Given the description of an element on the screen output the (x, y) to click on. 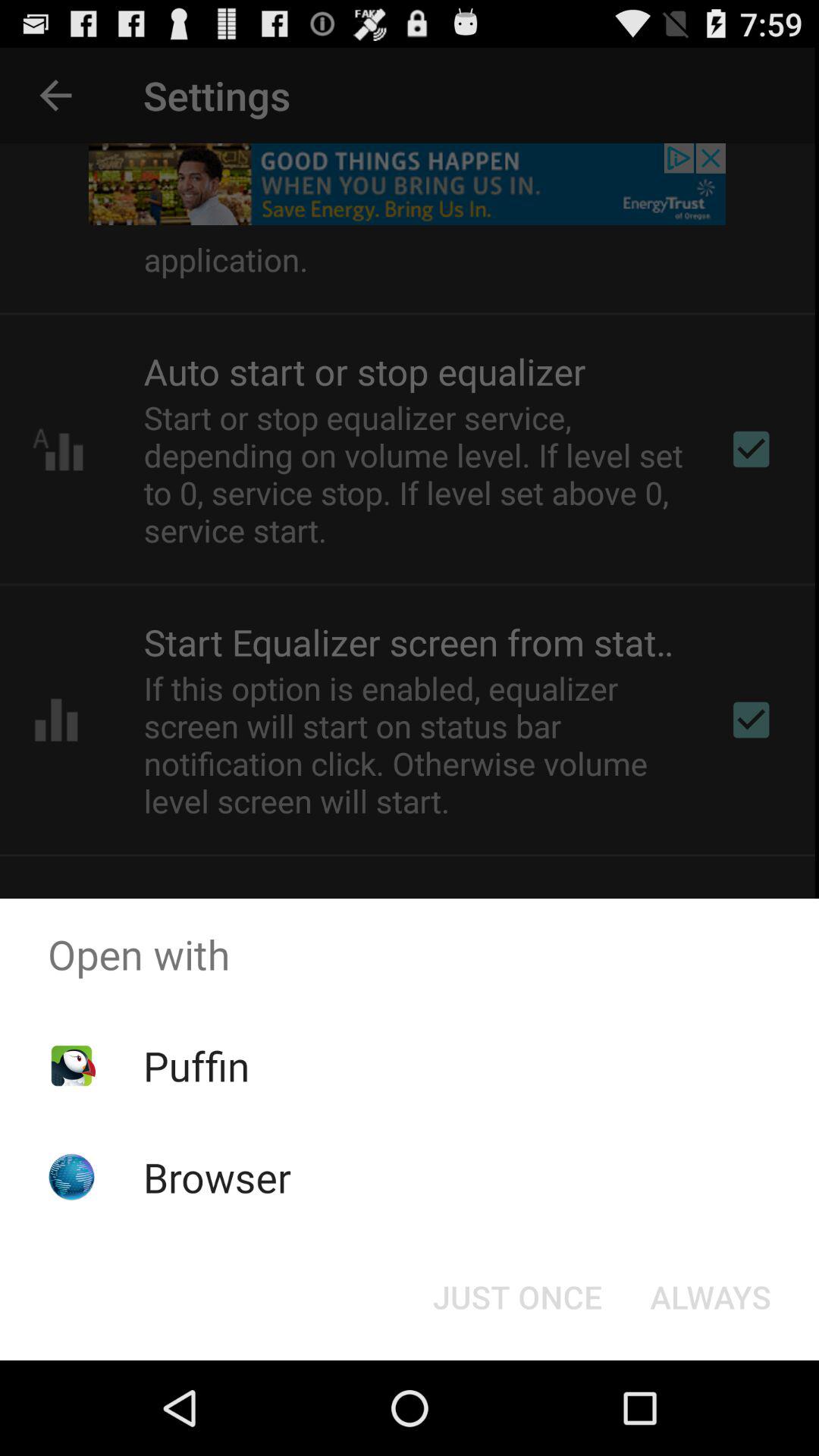
select the icon at the bottom right corner (710, 1296)
